Given the description of an element on the screen output the (x, y) to click on. 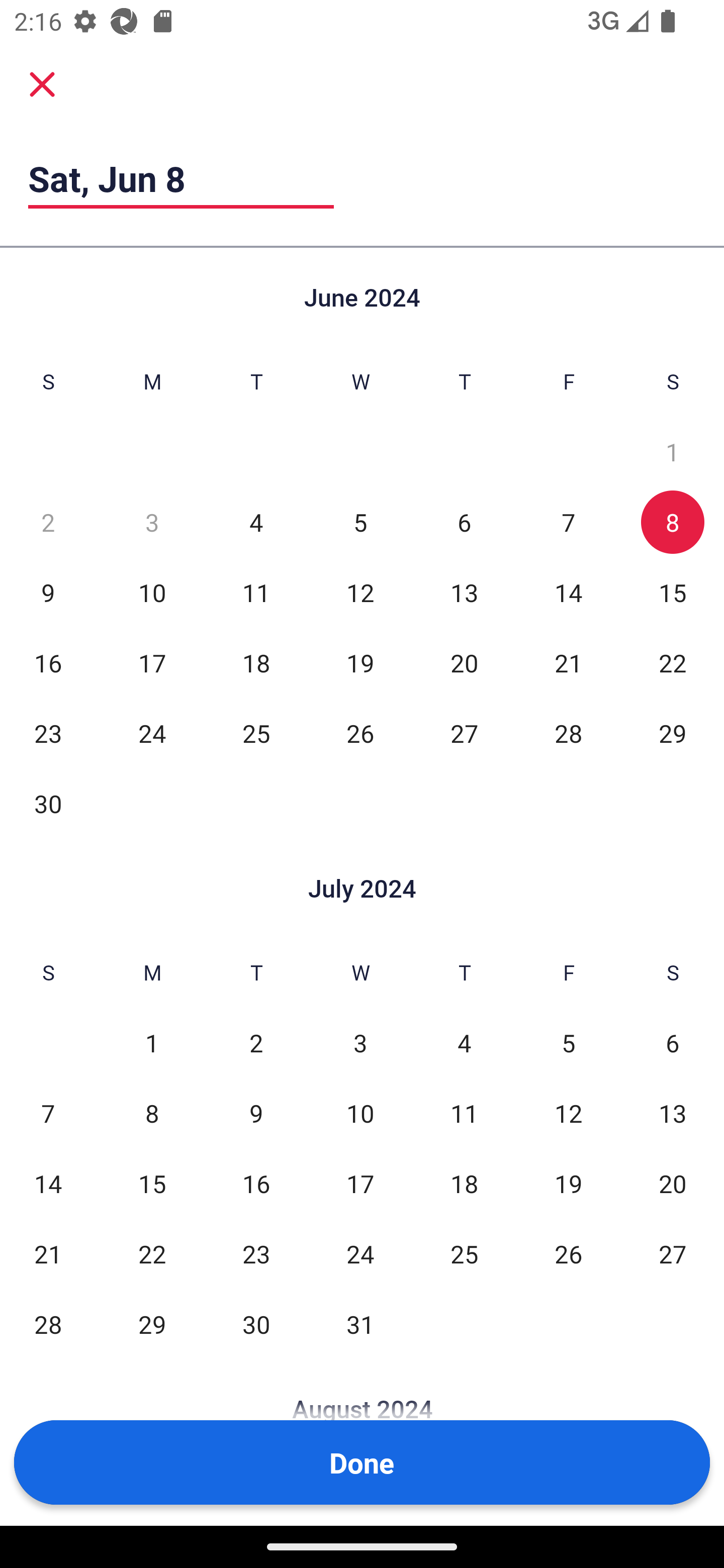
Cancel (41, 83)
Sat, Jun 8 (180, 178)
1 Sat, Jun 1, Not Selected (672, 452)
2 Sun, Jun 2, Not Selected (48, 521)
3 Mon, Jun 3, Not Selected (152, 521)
4 Tue, Jun 4, Not Selected (256, 521)
5 Wed, Jun 5, Not Selected (360, 521)
6 Thu, Jun 6, Not Selected (464, 521)
7 Fri, Jun 7, Not Selected (568, 521)
8 Sat, Jun 8, Selected (672, 521)
9 Sun, Jun 9, Not Selected (48, 591)
10 Mon, Jun 10, Not Selected (152, 591)
11 Tue, Jun 11, Not Selected (256, 591)
12 Wed, Jun 12, Not Selected (360, 591)
13 Thu, Jun 13, Not Selected (464, 591)
14 Fri, Jun 14, Not Selected (568, 591)
15 Sat, Jun 15, Not Selected (672, 591)
16 Sun, Jun 16, Not Selected (48, 662)
17 Mon, Jun 17, Not Selected (152, 662)
18 Tue, Jun 18, Not Selected (256, 662)
19 Wed, Jun 19, Not Selected (360, 662)
20 Thu, Jun 20, Not Selected (464, 662)
21 Fri, Jun 21, Not Selected (568, 662)
22 Sat, Jun 22, Not Selected (672, 662)
23 Sun, Jun 23, Not Selected (48, 732)
24 Mon, Jun 24, Not Selected (152, 732)
25 Tue, Jun 25, Not Selected (256, 732)
26 Wed, Jun 26, Not Selected (360, 732)
27 Thu, Jun 27, Not Selected (464, 732)
28 Fri, Jun 28, Not Selected (568, 732)
29 Sat, Jun 29, Not Selected (672, 732)
30 Sun, Jun 30, Not Selected (48, 803)
1 Mon, Jul 1, Not Selected (152, 1043)
2 Tue, Jul 2, Not Selected (256, 1043)
3 Wed, Jul 3, Not Selected (360, 1043)
4 Thu, Jul 4, Not Selected (464, 1043)
5 Fri, Jul 5, Not Selected (568, 1043)
6 Sat, Jul 6, Not Selected (672, 1043)
7 Sun, Jul 7, Not Selected (48, 1112)
8 Mon, Jul 8, Not Selected (152, 1112)
9 Tue, Jul 9, Not Selected (256, 1112)
10 Wed, Jul 10, Not Selected (360, 1112)
11 Thu, Jul 11, Not Selected (464, 1112)
12 Fri, Jul 12, Not Selected (568, 1112)
13 Sat, Jul 13, Not Selected (672, 1112)
14 Sun, Jul 14, Not Selected (48, 1182)
15 Mon, Jul 15, Not Selected (152, 1182)
16 Tue, Jul 16, Not Selected (256, 1182)
17 Wed, Jul 17, Not Selected (360, 1182)
18 Thu, Jul 18, Not Selected (464, 1182)
19 Fri, Jul 19, Not Selected (568, 1182)
20 Sat, Jul 20, Not Selected (672, 1182)
21 Sun, Jul 21, Not Selected (48, 1253)
22 Mon, Jul 22, Not Selected (152, 1253)
23 Tue, Jul 23, Not Selected (256, 1253)
24 Wed, Jul 24, Not Selected (360, 1253)
25 Thu, Jul 25, Not Selected (464, 1253)
26 Fri, Jul 26, Not Selected (568, 1253)
27 Sat, Jul 27, Not Selected (672, 1253)
28 Sun, Jul 28, Not Selected (48, 1323)
29 Mon, Jul 29, Not Selected (152, 1323)
30 Tue, Jul 30, Not Selected (256, 1323)
31 Wed, Jul 31, Not Selected (360, 1323)
Done Button Done (361, 1462)
